Given the description of an element on the screen output the (x, y) to click on. 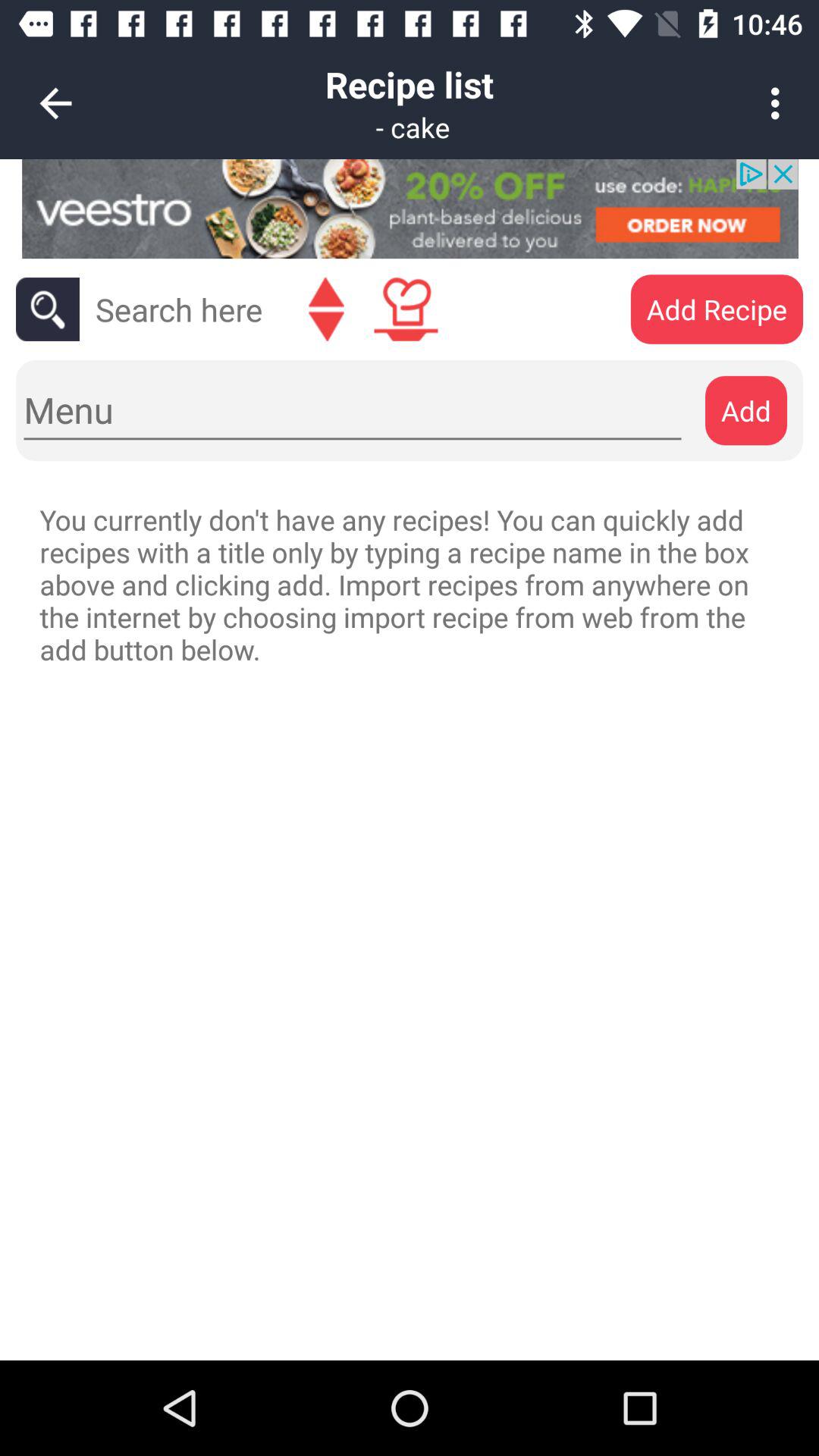
enter recipe (405, 309)
